Given the description of an element on the screen output the (x, y) to click on. 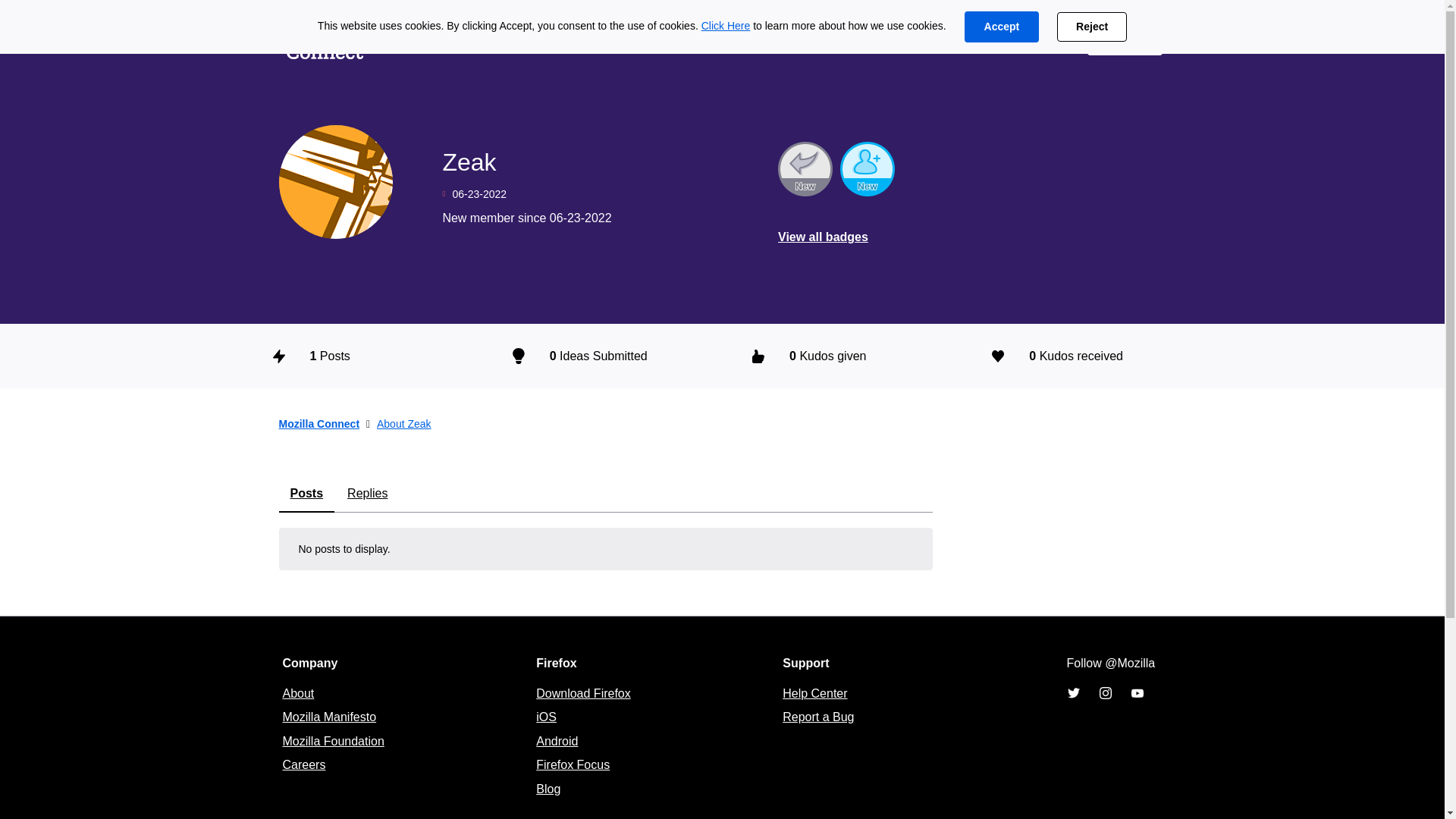
Twitter (1072, 693)
Mozilla Foundation (333, 740)
Instagram (1104, 693)
Ideas (411, 39)
Replies (367, 493)
Mozilla Manifesto (328, 716)
Community (607, 39)
Firefox Focus (572, 764)
Zeak (336, 182)
Android (556, 740)
Discussions (500, 39)
Accept (1001, 26)
Reject (1091, 26)
Download Firefox (582, 693)
Careers (303, 764)
